Given the description of an element on the screen output the (x, y) to click on. 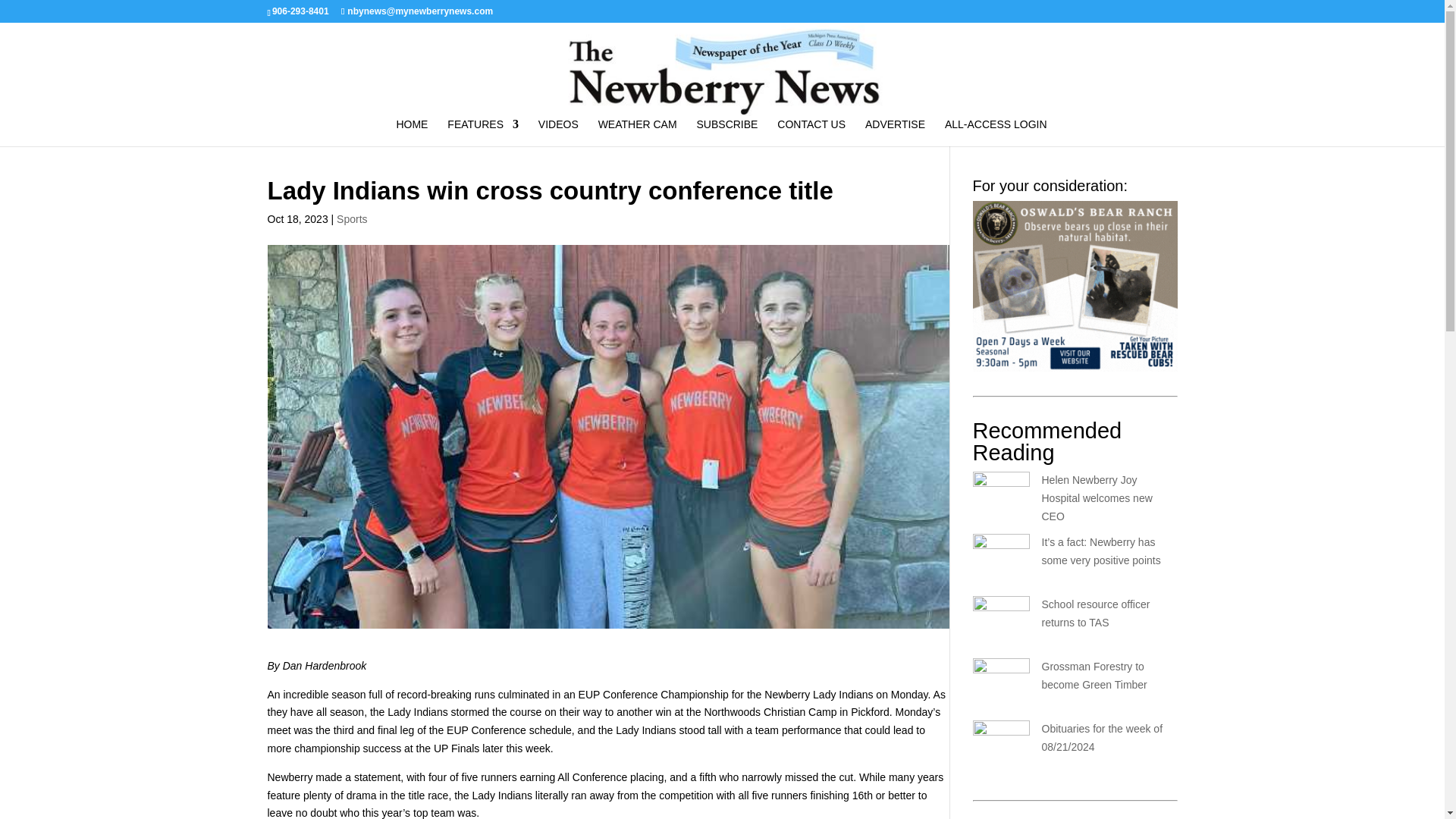
FEATURES (482, 132)
SUBSCRIBE (727, 132)
ALL-ACCESS LOGIN (995, 132)
Sports (351, 218)
School resource officer returns to TAS (1096, 613)
ADVERTISE (894, 132)
VIDEOS (558, 132)
WEATHER CAM (637, 132)
CONTACT US (811, 132)
HOME (412, 132)
